Given the description of an element on the screen output the (x, y) to click on. 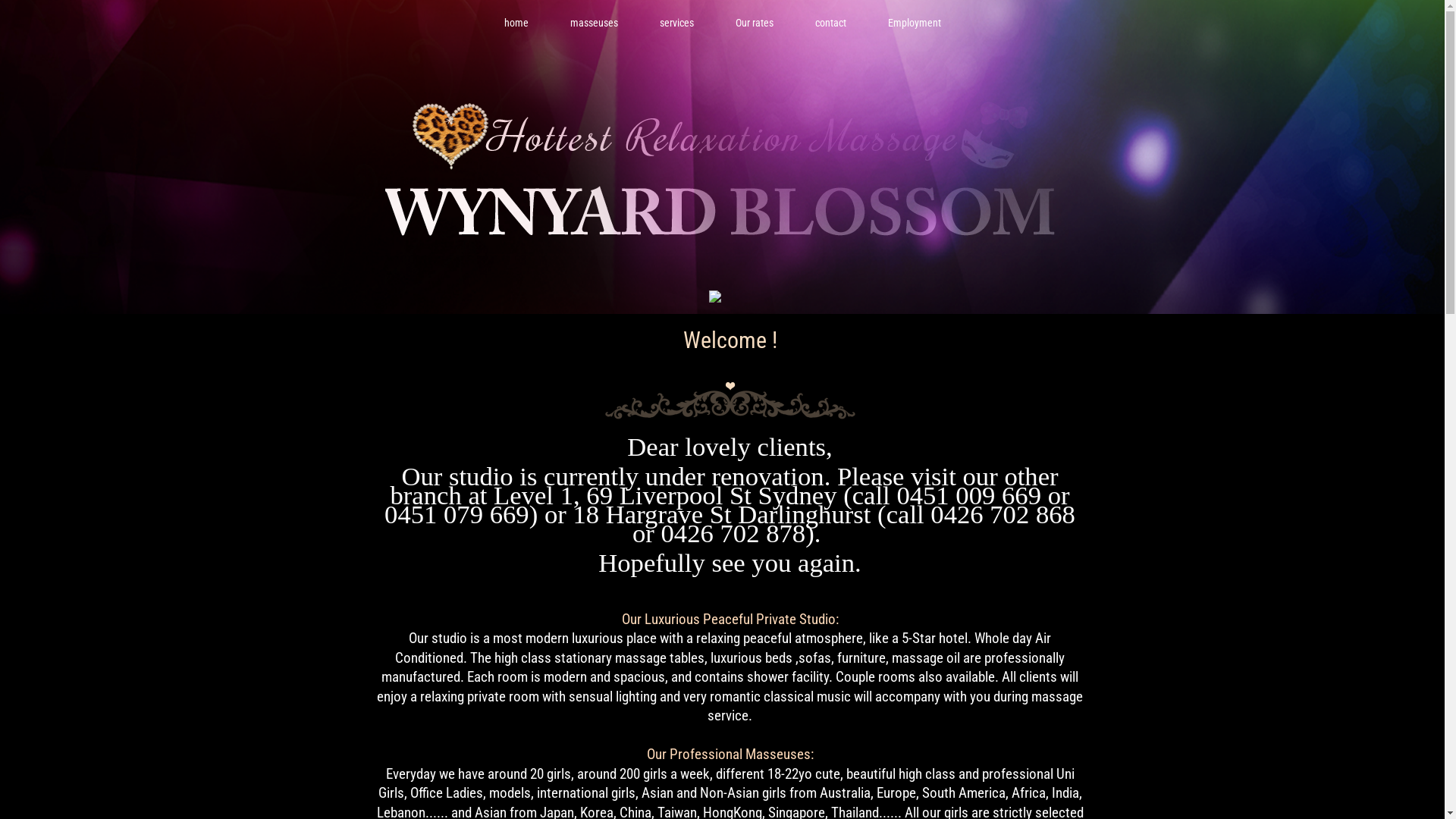
contact Element type: text (829, 23)
Our rates Element type: text (754, 23)
home Element type: text (515, 23)
masseuses Element type: text (594, 23)
services Element type: text (676, 23)
Employment Element type: text (913, 23)
